Given the description of an element on the screen output the (x, y) to click on. 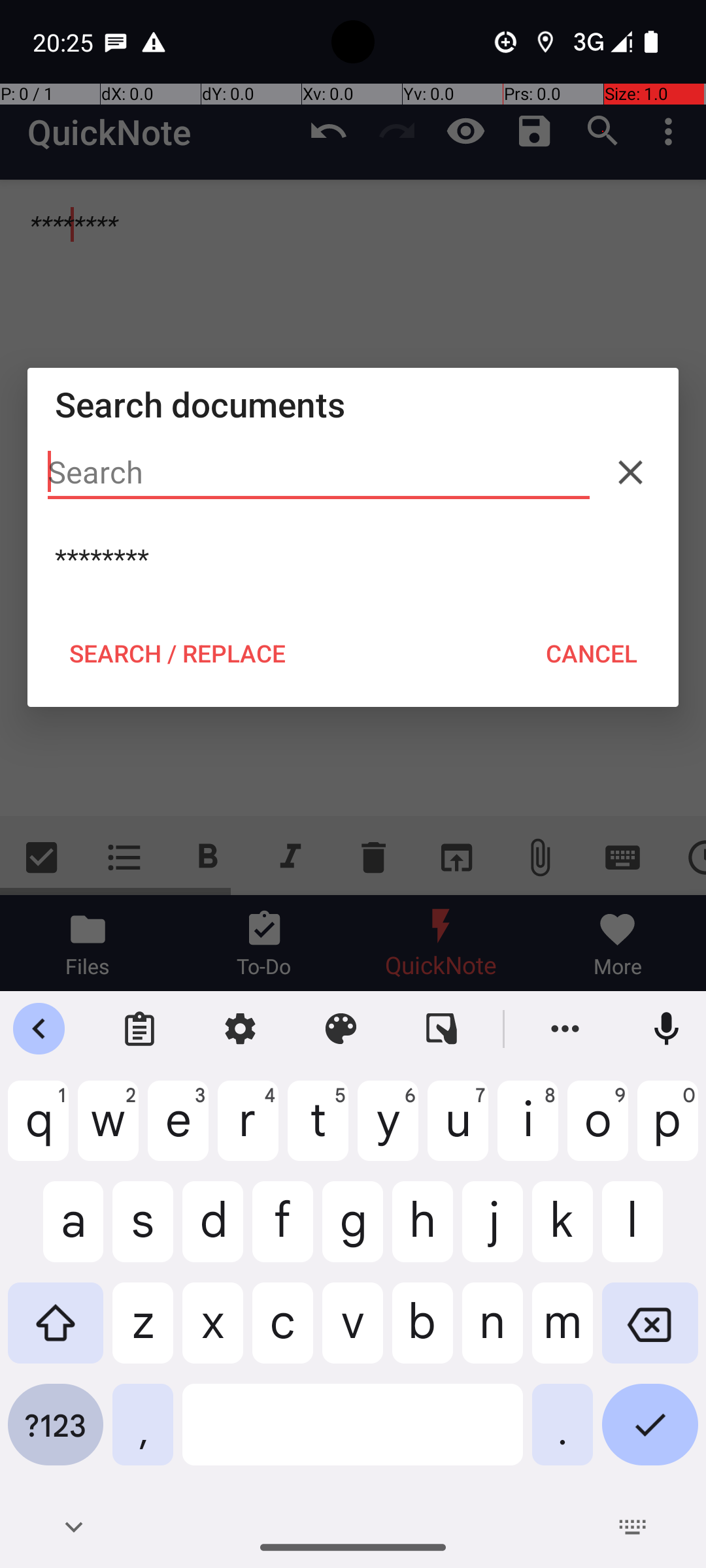
Search documents Element type: android.widget.TextView (352, 403)
******** Element type: android.widget.TextView (352, 558)
SEARCH / REPLACE Element type: android.widget.Button (176, 652)
20:25 Element type: android.widget.TextView (64, 41)
